Given the description of an element on the screen output the (x, y) to click on. 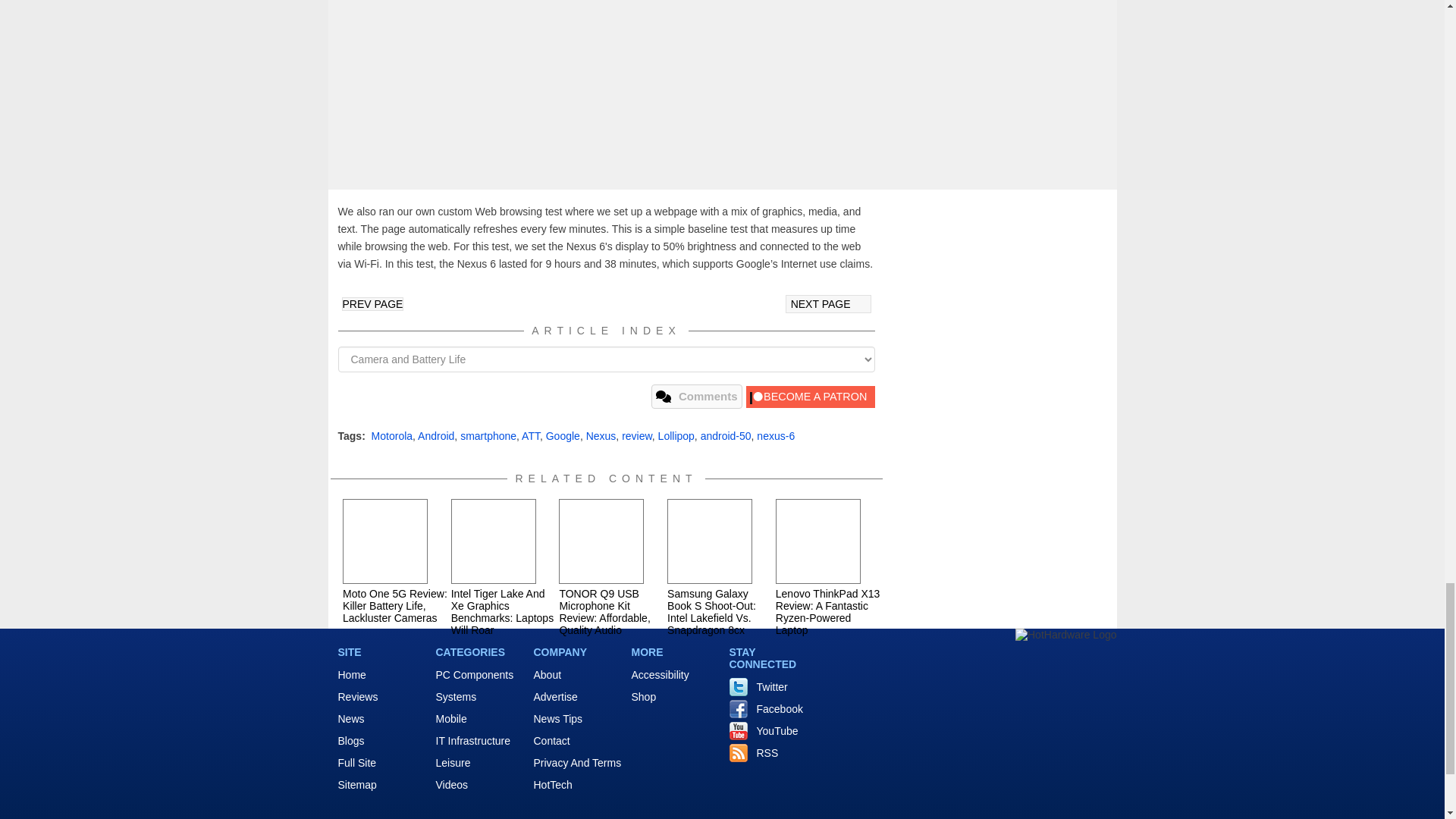
Moto One 5G Review: Killer Battery Life, Lackluster Cameras (384, 541)
Lenovo ThinkPad X13 Review: A Fantastic Ryzen-Powered Laptop (818, 541)
Comments (696, 396)
